Given the description of an element on the screen output the (x, y) to click on. 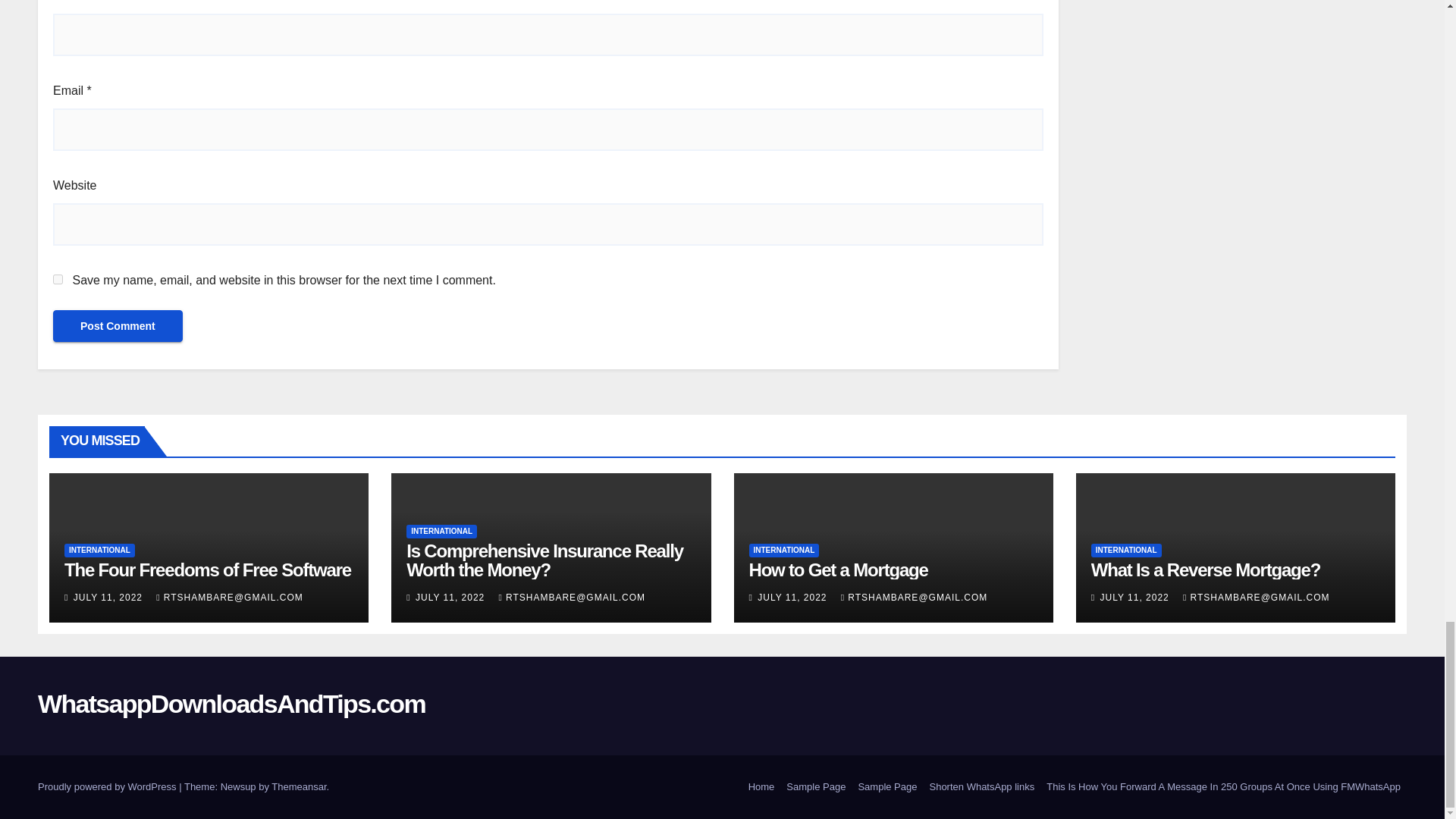
yes (57, 279)
Permalink to: How to Get a Mortgage (838, 569)
Home (761, 786)
Permalink to: What Is a Reverse Mortgage? (1205, 569)
Post Comment (117, 326)
Permalink to: The Four Freedoms of Free Software (207, 569)
